Given the description of an element on the screen output the (x, y) to click on. 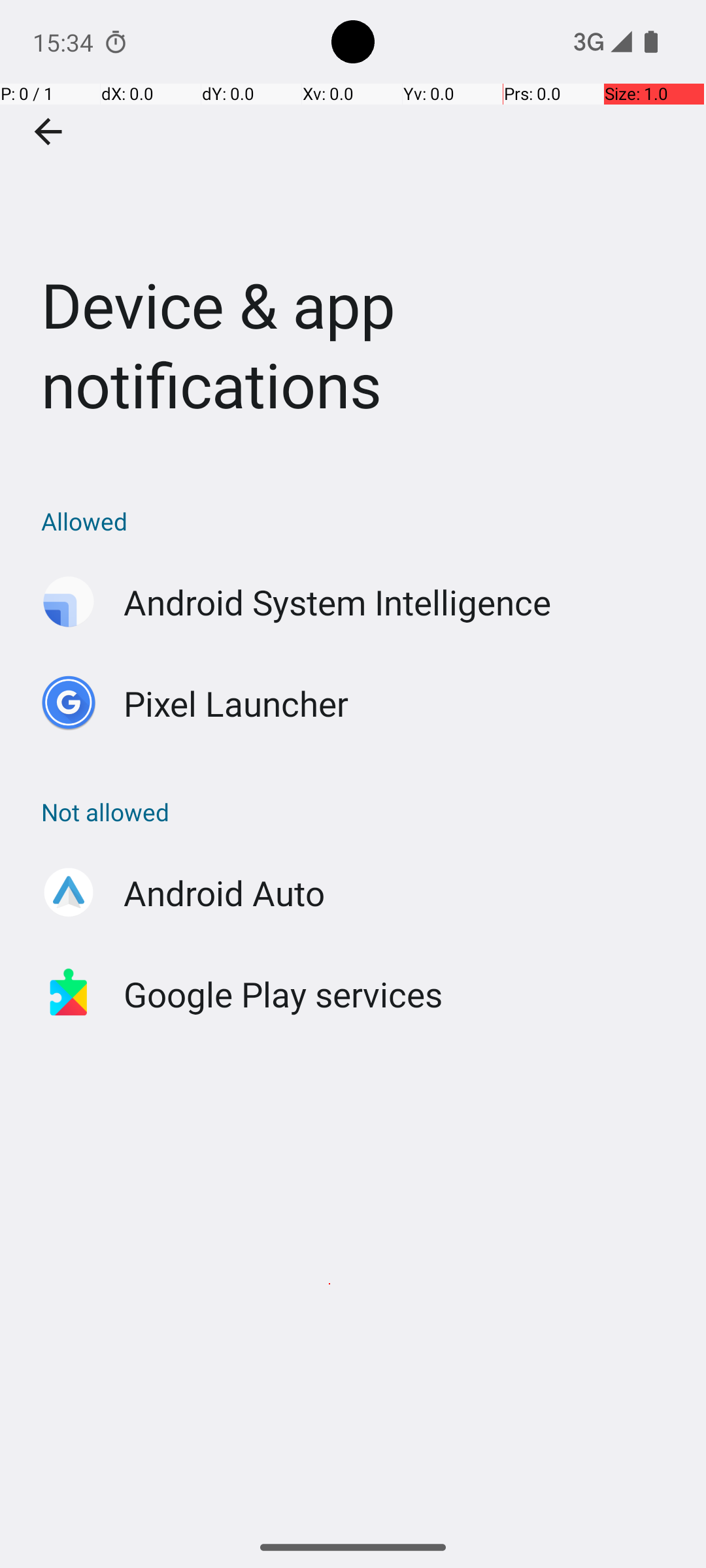
Android System Intelligence Element type: android.widget.TextView (337, 601)
Not allowed Element type: android.widget.TextView (359, 811)
